Given the description of an element on the screen output the (x, y) to click on. 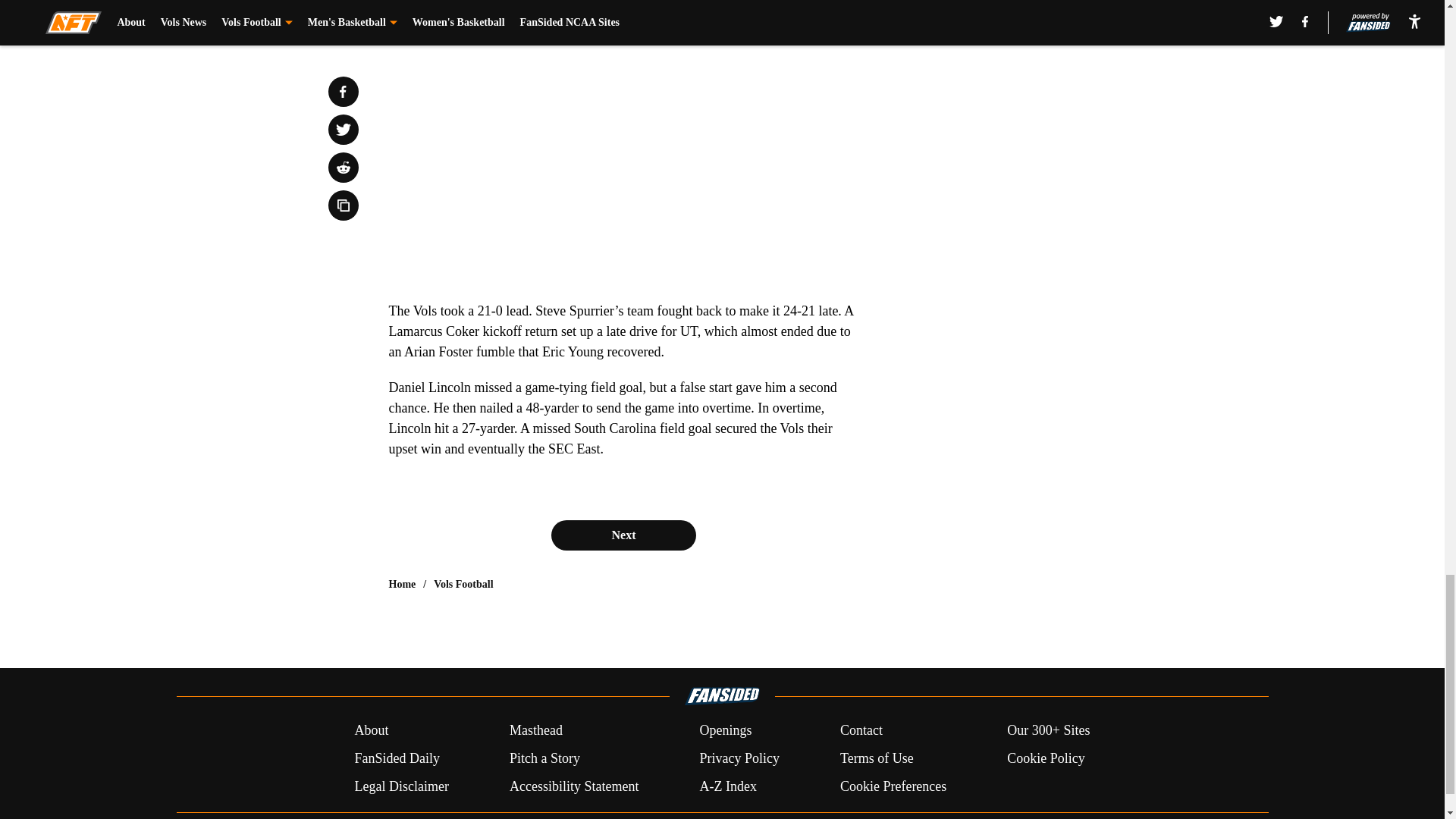
Contact (861, 730)
Vols Football (463, 584)
Home (401, 584)
FanSided Daily (396, 758)
Openings (724, 730)
Next (622, 535)
Pitch a Story (544, 758)
About (370, 730)
Masthead (535, 730)
